Given the description of an element on the screen output the (x, y) to click on. 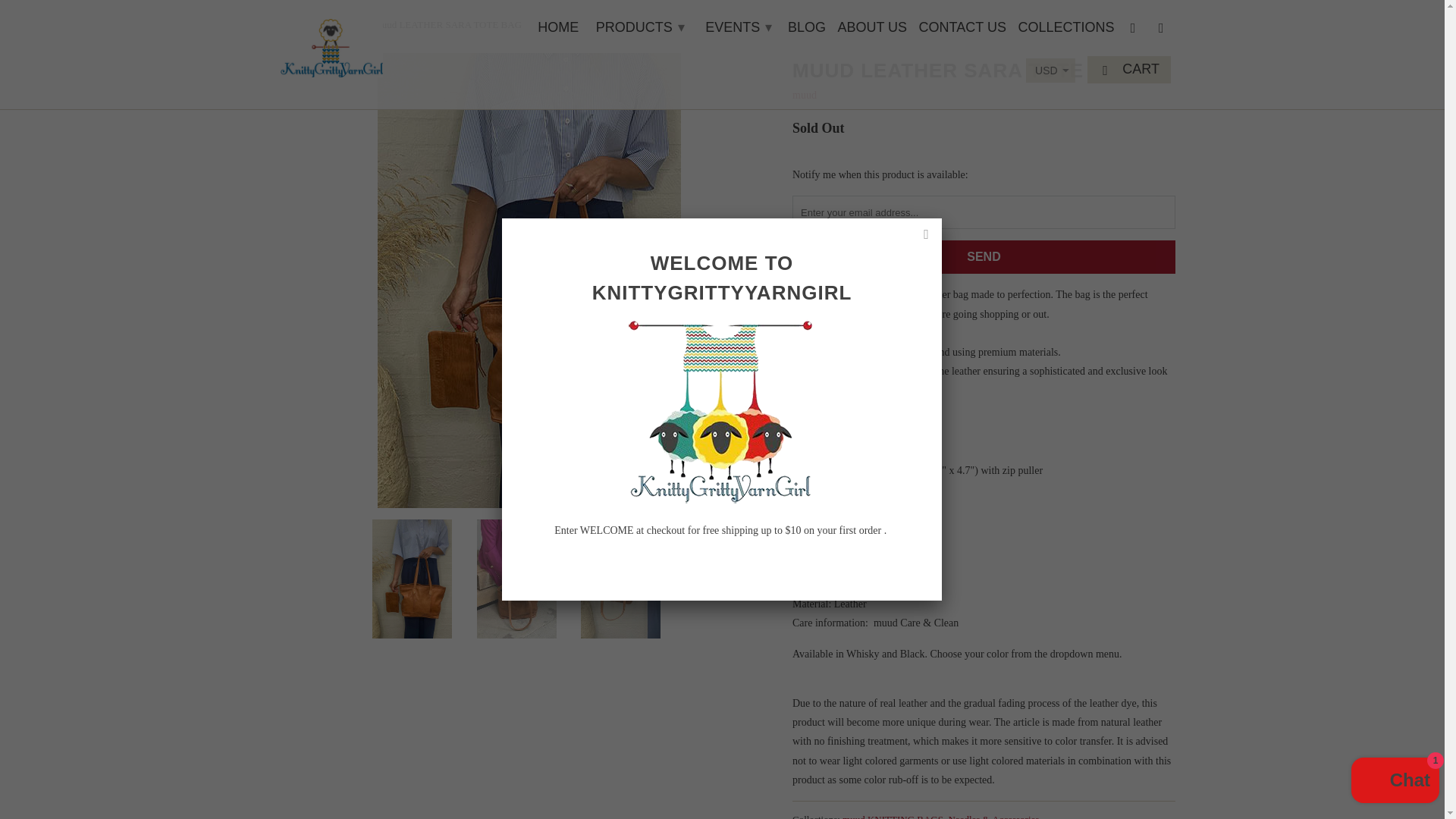
Knitty Gritty Yarn Girl (292, 24)
muud (804, 94)
muud KNITTING BAGS (893, 816)
Products (338, 24)
Knitty Gritty Yarn Girl (331, 43)
Send (983, 256)
HOME (557, 29)
